Given the description of an element on the screen output the (x, y) to click on. 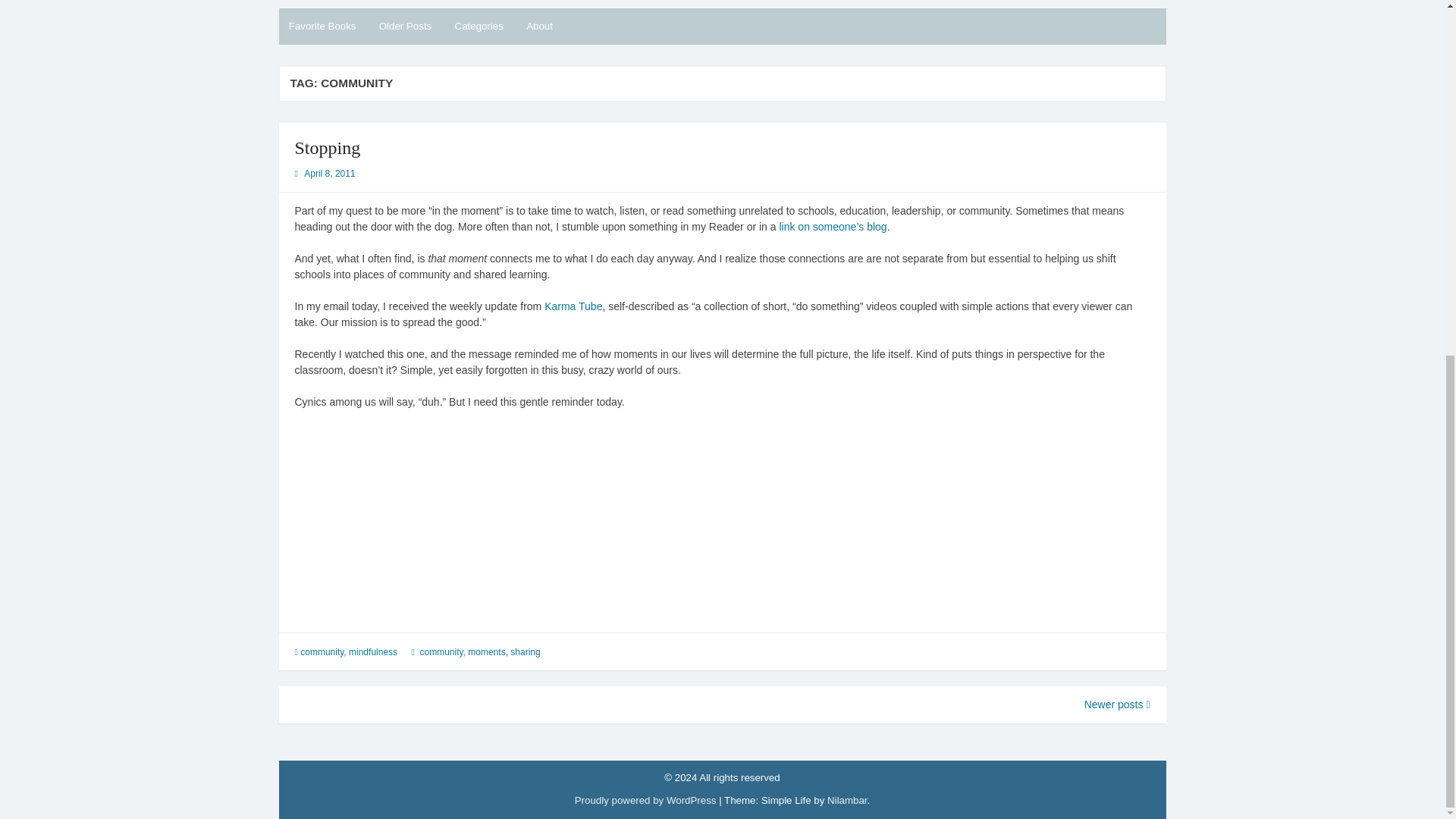
community (441, 652)
Newer posts (1117, 704)
Nilambar (846, 799)
Karma Tube (573, 306)
mindfulness (373, 652)
community (321, 652)
Older Posts (404, 26)
Categories (478, 26)
About (539, 26)
sharing (525, 652)
Stopping (326, 148)
moments (486, 652)
Proudly powered by WordPress (645, 799)
Favorite Books (322, 26)
April 8, 2011 (329, 173)
